Given the description of an element on the screen output the (x, y) to click on. 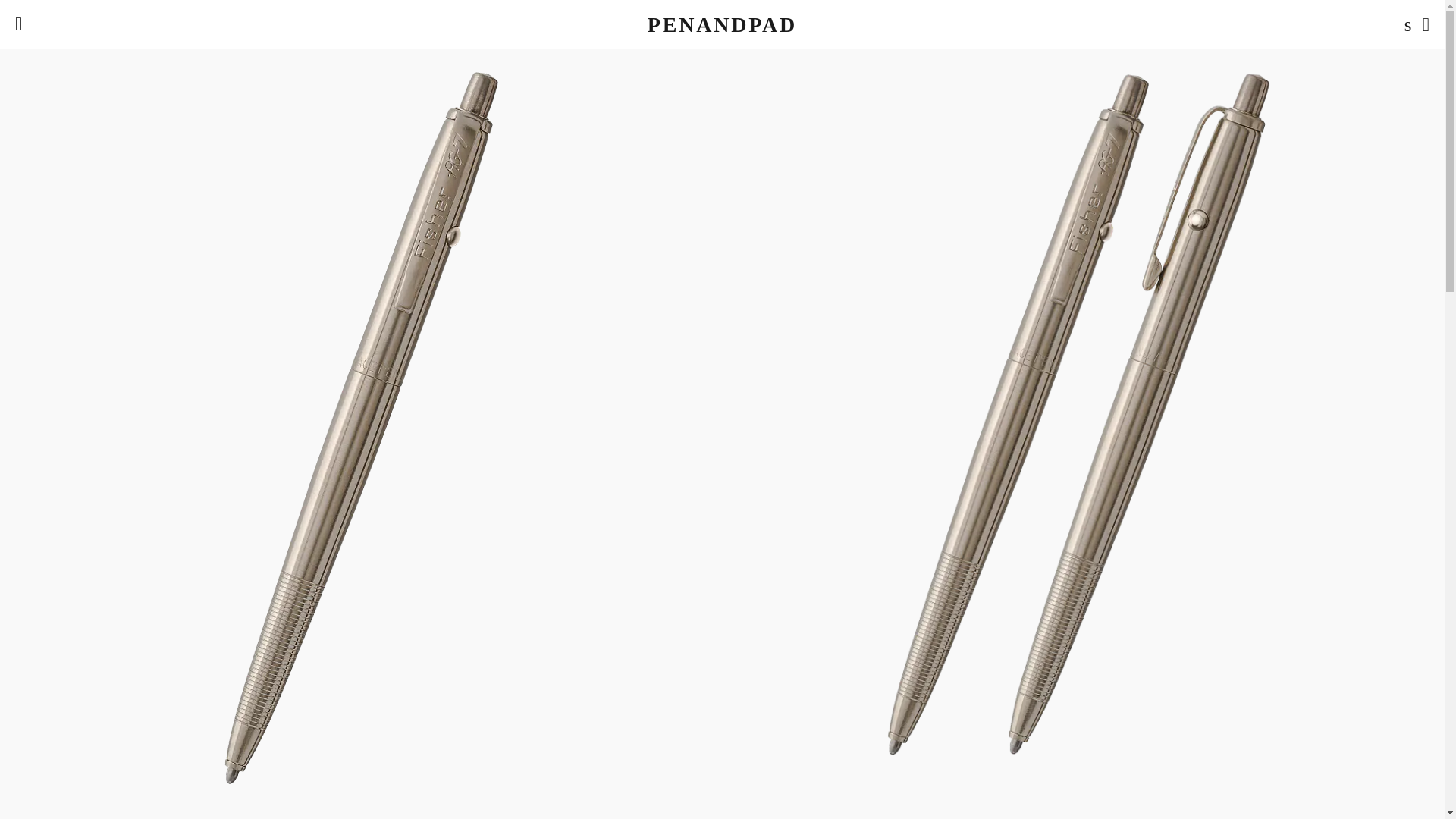
PENANDPAD (722, 24)
